Given the description of an element on the screen output the (x, y) to click on. 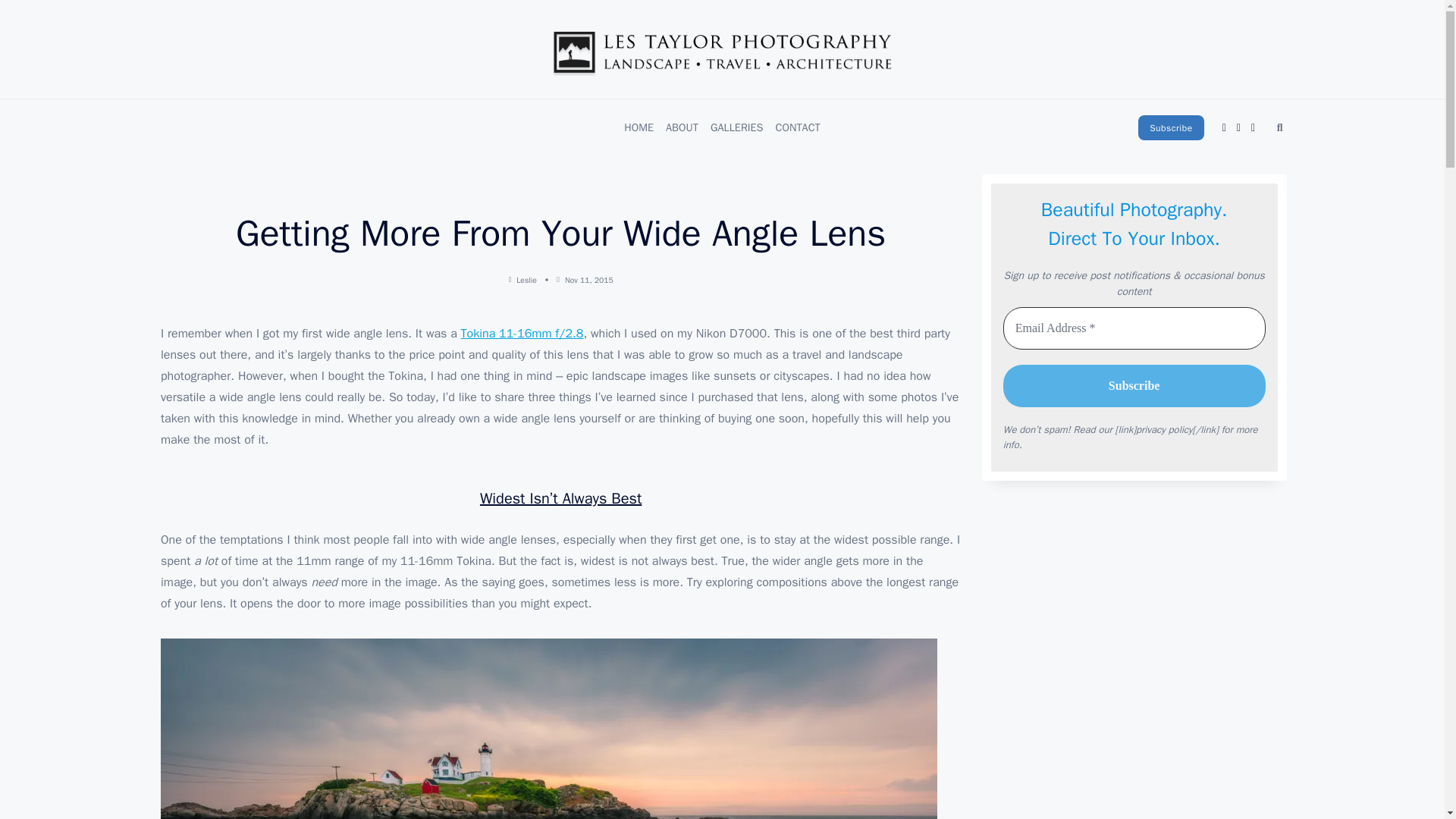
HOME (638, 127)
Subscribe (1171, 127)
GALLERIES (737, 127)
ABOUT (681, 127)
Subscribe (1134, 385)
CONTACT (798, 127)
Nov 11, 2015 (588, 280)
Email Address (1134, 328)
Leslie (526, 280)
